Given the description of an element on the screen output the (x, y) to click on. 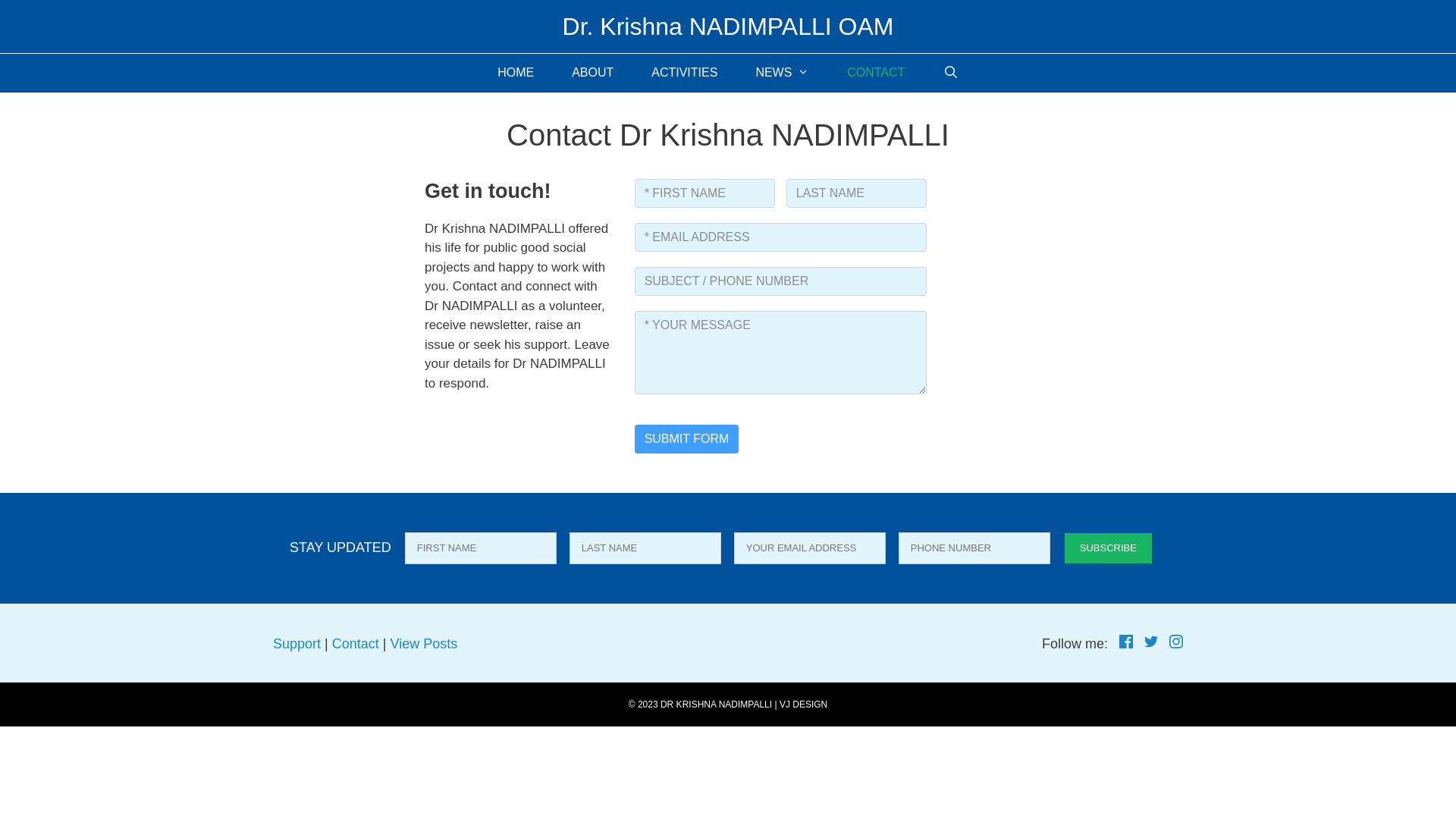
SUBMIT FORM Element type: text (686, 438)
Contact Element type: text (355, 643)
ABOUT Element type: text (592, 72)
View Posts Element type: text (423, 643)
Dr. Krishna Nadimpalli's Instagram Page Element type: text (1176, 643)
VJ DESIGN Element type: text (803, 704)
Support Element type: text (296, 643)
NEWS Element type: text (782, 72)
CONTACT Element type: text (875, 72)
HOME Element type: text (515, 72)
Subscribe Element type: text (1108, 547)
ACTIVITIES Element type: text (684, 72)
Dr. Krishna NADIMPALLI OAM Element type: text (728, 26)
